Given the description of an element on the screen output the (x, y) to click on. 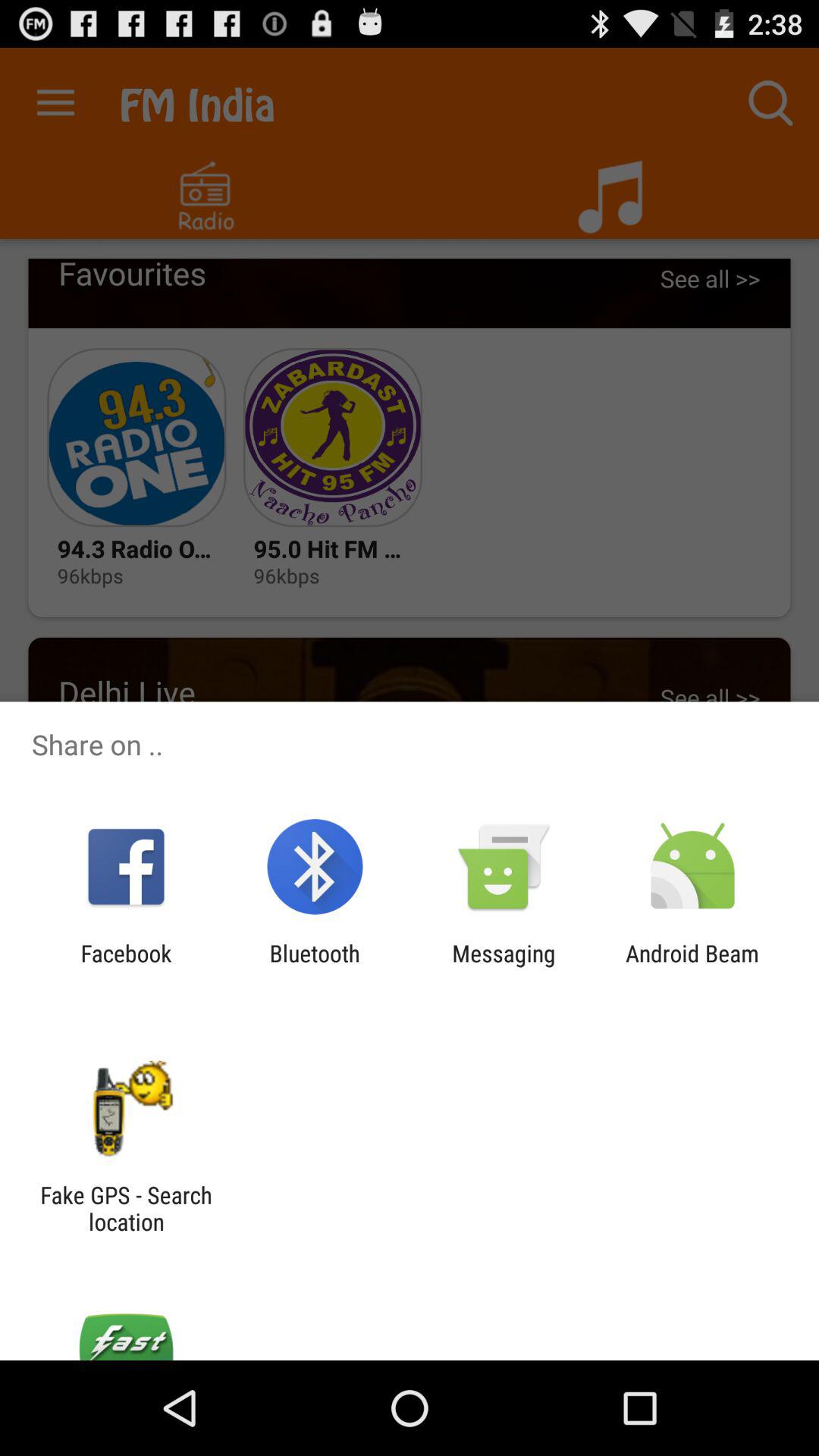
press icon next to facebook app (314, 966)
